Given the description of an element on the screen output the (x, y) to click on. 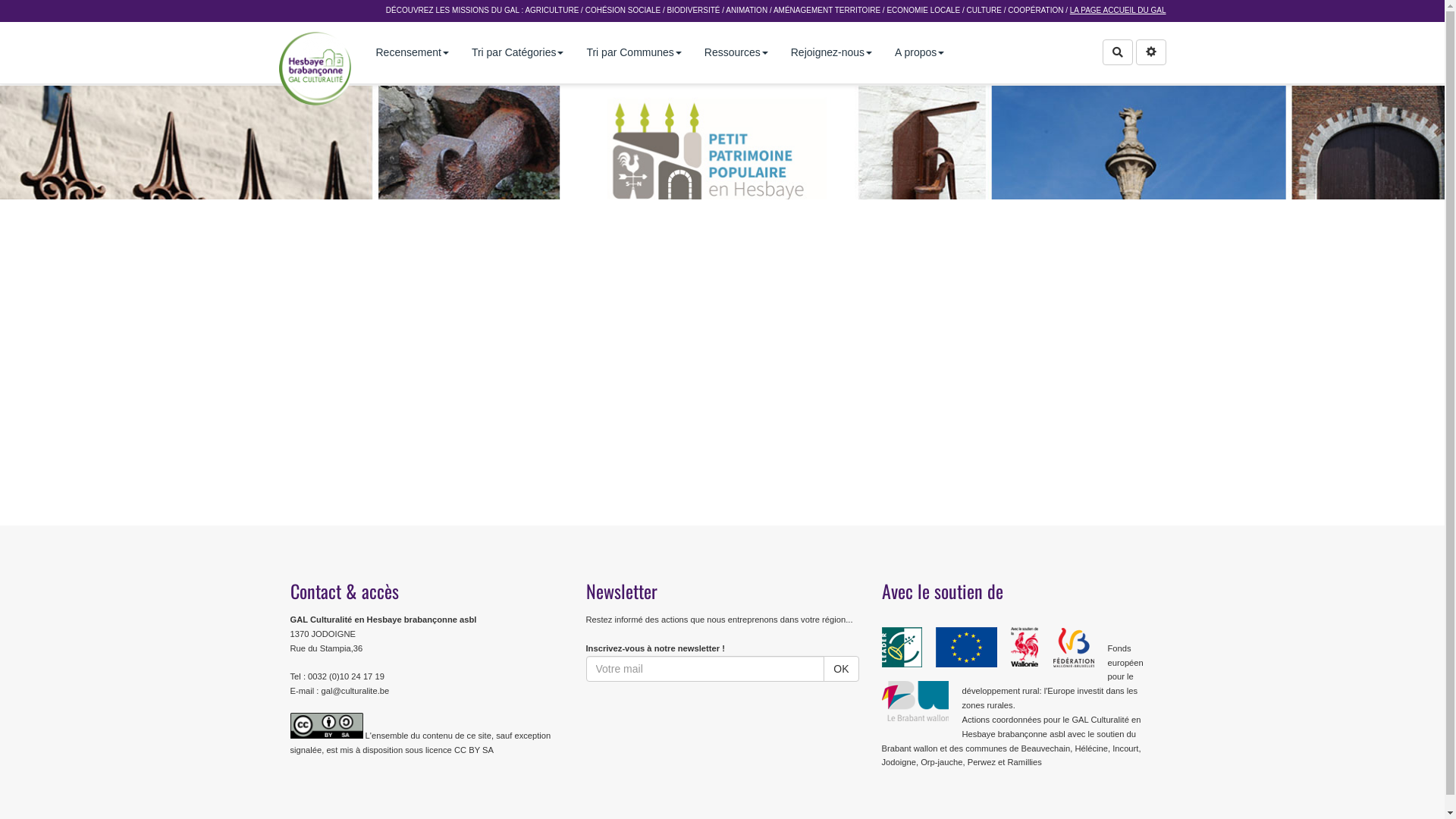
ECONOMIE LOCALE Element type: text (923, 10)
OK Element type: text (840, 668)
LA PAGE ACCUEIL DU GAL Element type: text (1118, 10)
AGRICULTURE Element type: text (551, 10)
Rechercher Element type: text (1117, 52)
Recensement Element type: text (411, 52)
Rejoignez-nous Element type: text (831, 52)
ANIMATION Element type: text (746, 10)
Tri par Communes Element type: text (633, 52)
A propos Element type: text (919, 52)
CULTURE Element type: text (983, 10)
Ressources Element type: text (736, 52)
